Given the description of an element on the screen output the (x, y) to click on. 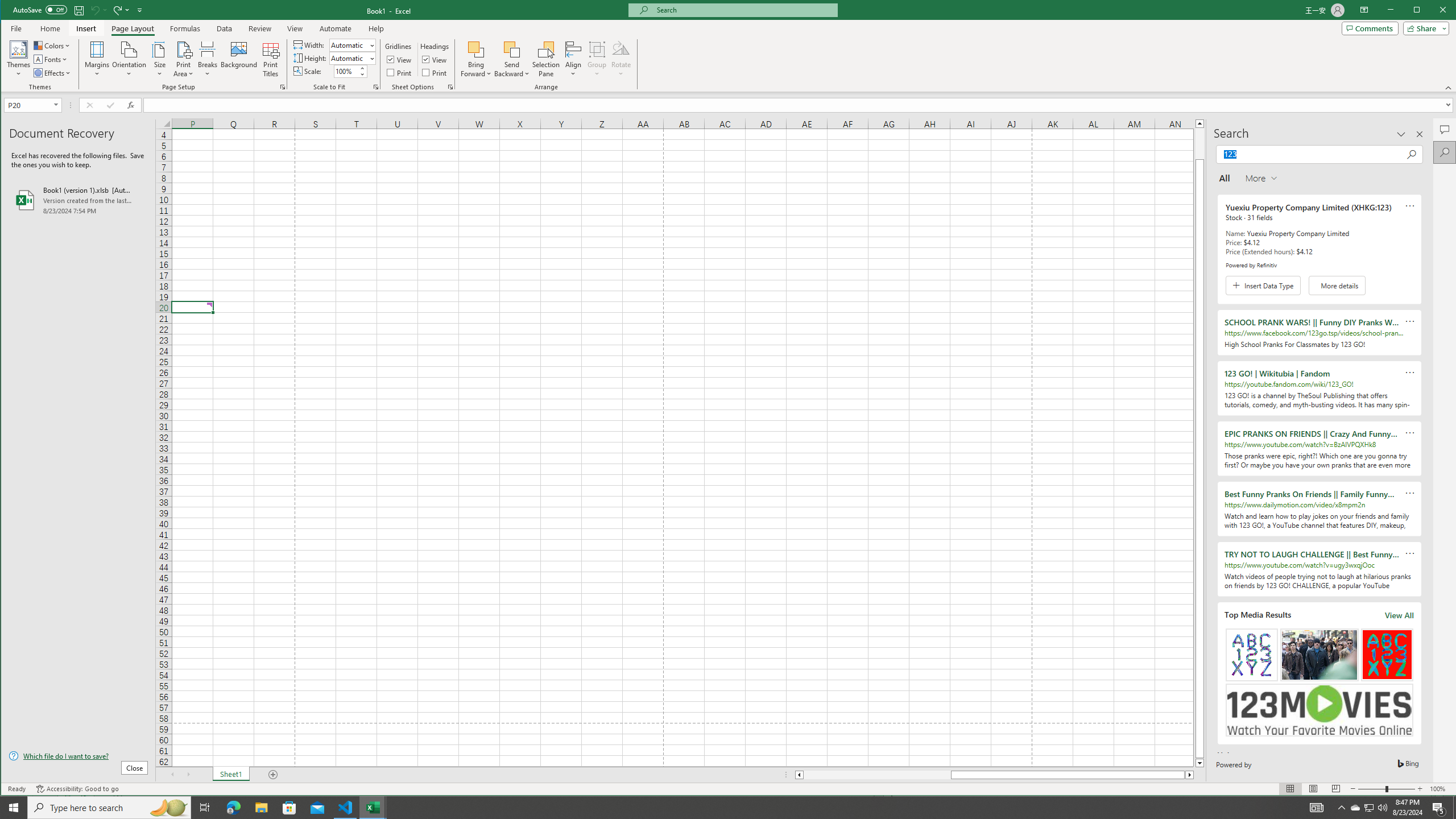
Bring Forward (476, 48)
Align (573, 59)
Excel - 2 running windows (373, 807)
